Given the description of an element on the screen output the (x, y) to click on. 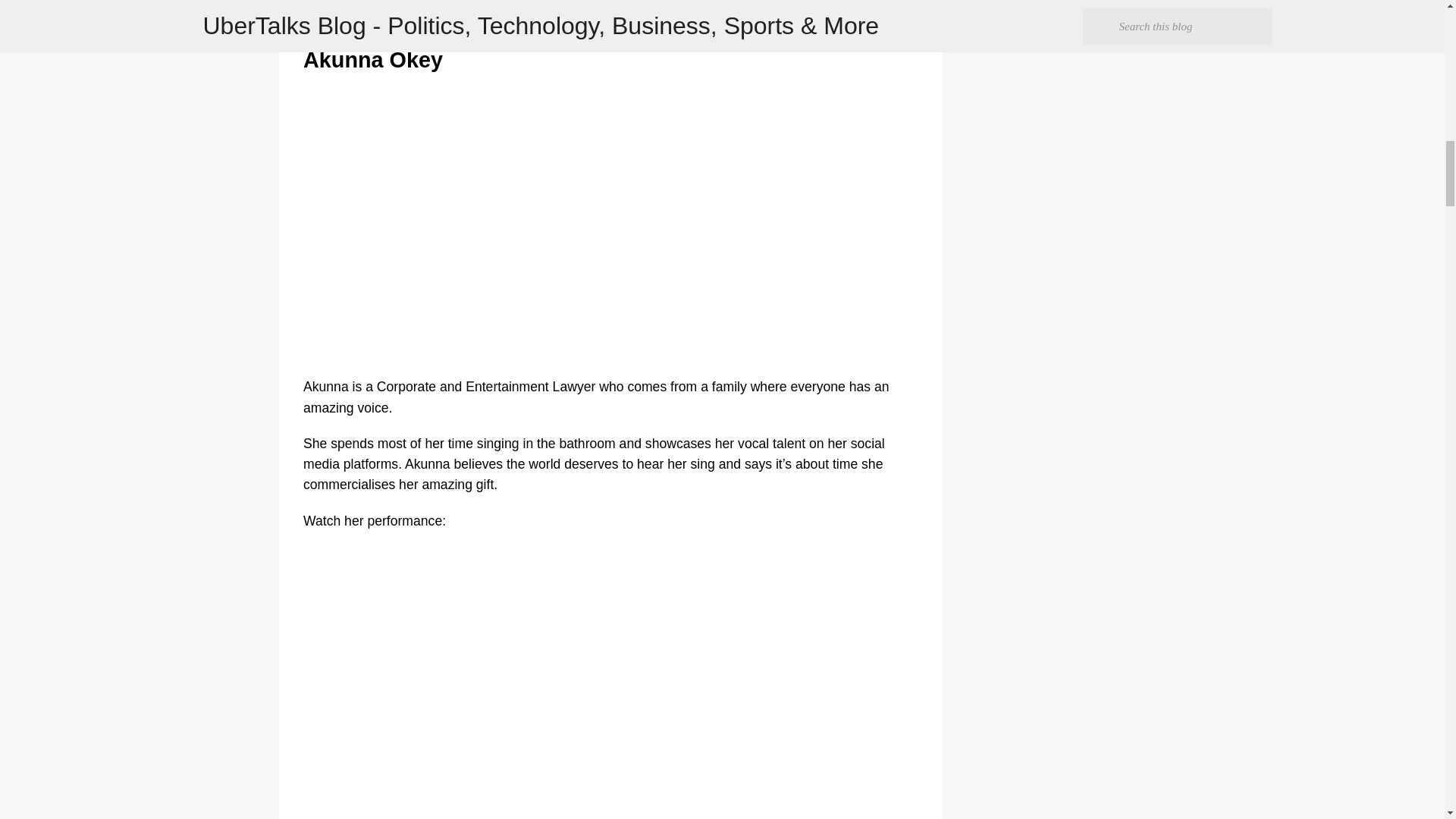
YouTube video player (545, 11)
YouTube video player (545, 683)
YouTube video player (545, 218)
Akunna Okey (372, 59)
